Given the description of an element on the screen output the (x, y) to click on. 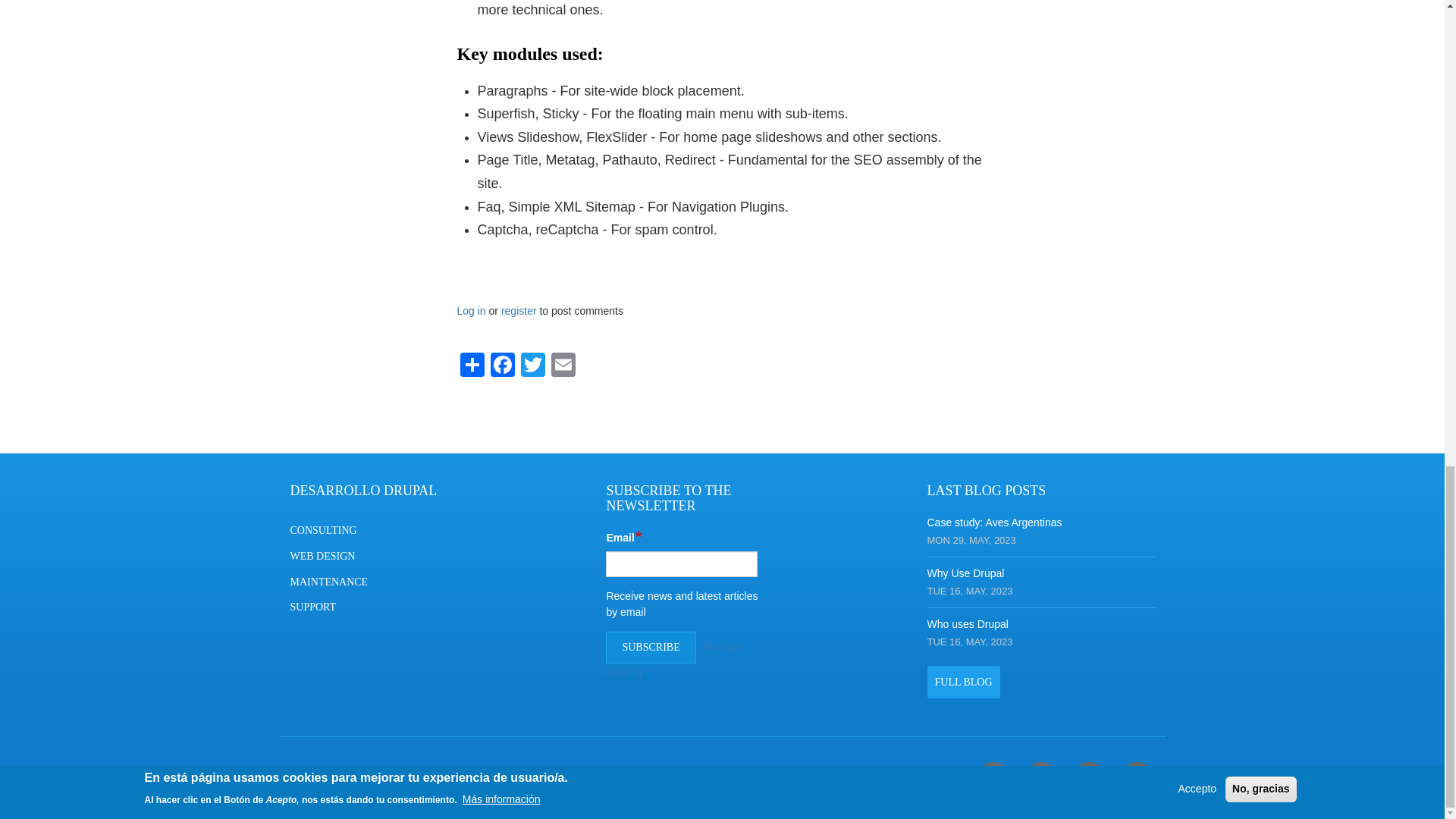
FULL BLOG (962, 682)
CONSULTING (362, 526)
Log in (470, 310)
MAINTENANCE (362, 578)
Share (471, 364)
Case study: Aves Argentinas (993, 522)
Facebook (993, 778)
Twitter (1136, 778)
Twitter (531, 364)
Who uses Drupal (966, 623)
SUBSCRIBE (650, 647)
Email (562, 364)
Instagram (1040, 778)
WEB DESIGN (362, 552)
Facebook (501, 364)
